Given the description of an element on the screen output the (x, y) to click on. 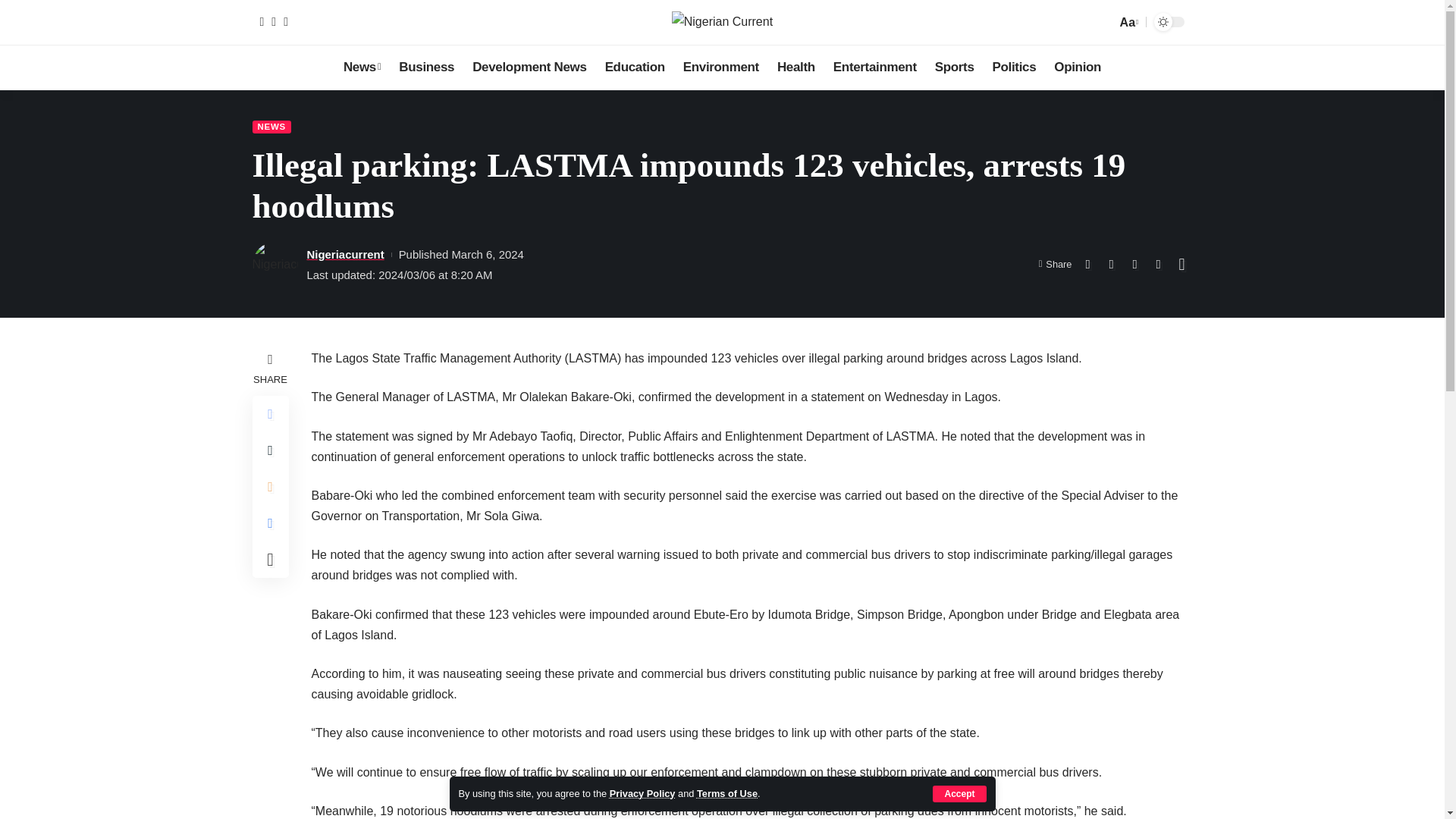
Entertainment (875, 67)
Environment (721, 67)
Health (796, 67)
Sports (955, 67)
Politics (1014, 67)
Development News (529, 67)
Aa (1127, 22)
Accept (959, 793)
Terms of Use (727, 793)
Privacy Policy (642, 793)
